Given the description of an element on the screen output the (x, y) to click on. 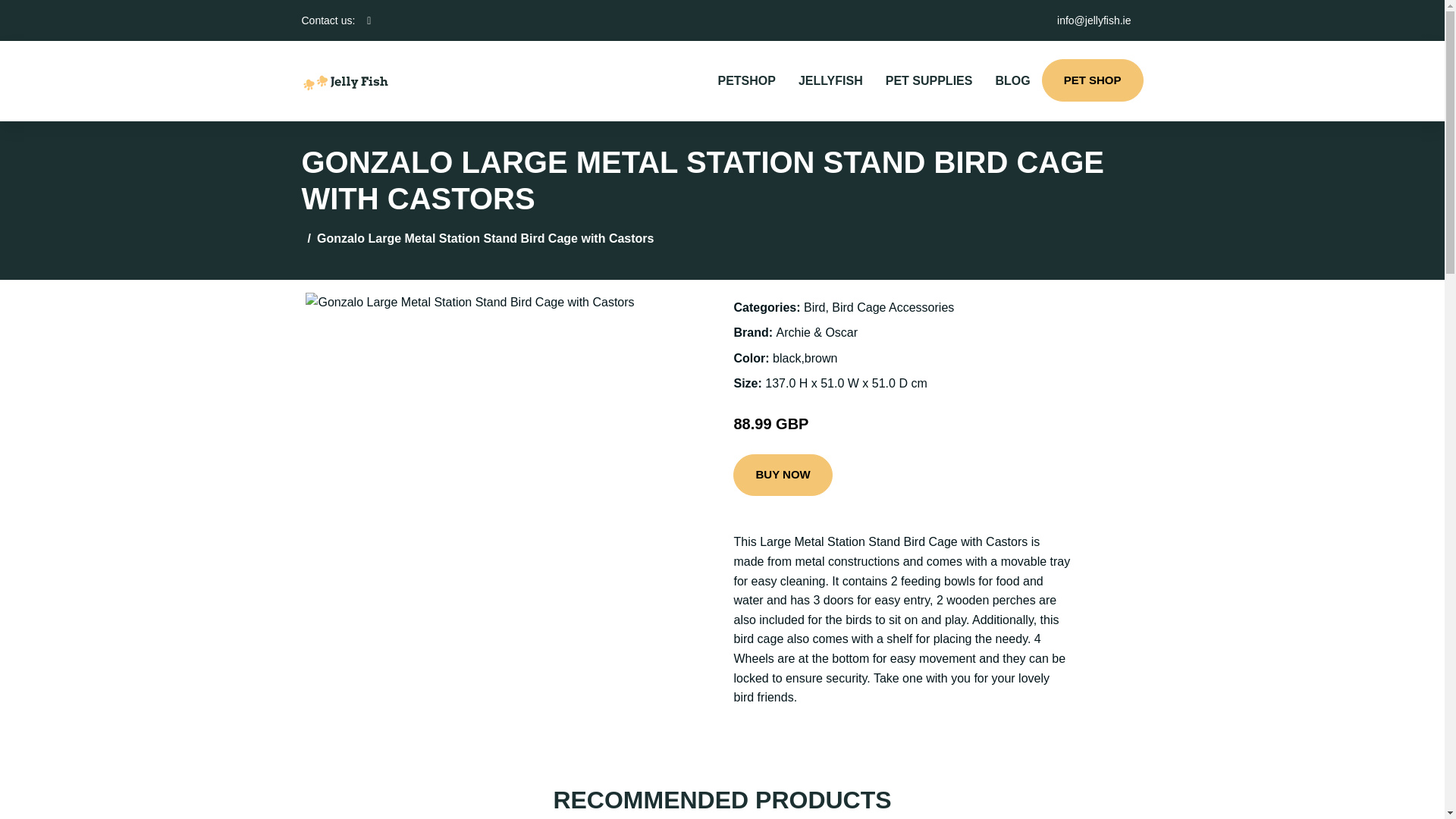
Bird Cage Accessories (892, 307)
JELLYFISH (831, 80)
BUY NOW (782, 475)
PETSHOP (746, 80)
PET SUPPLIES (929, 80)
Bird (814, 307)
PET SHOP (1092, 79)
